Given the description of an element on the screen output the (x, y) to click on. 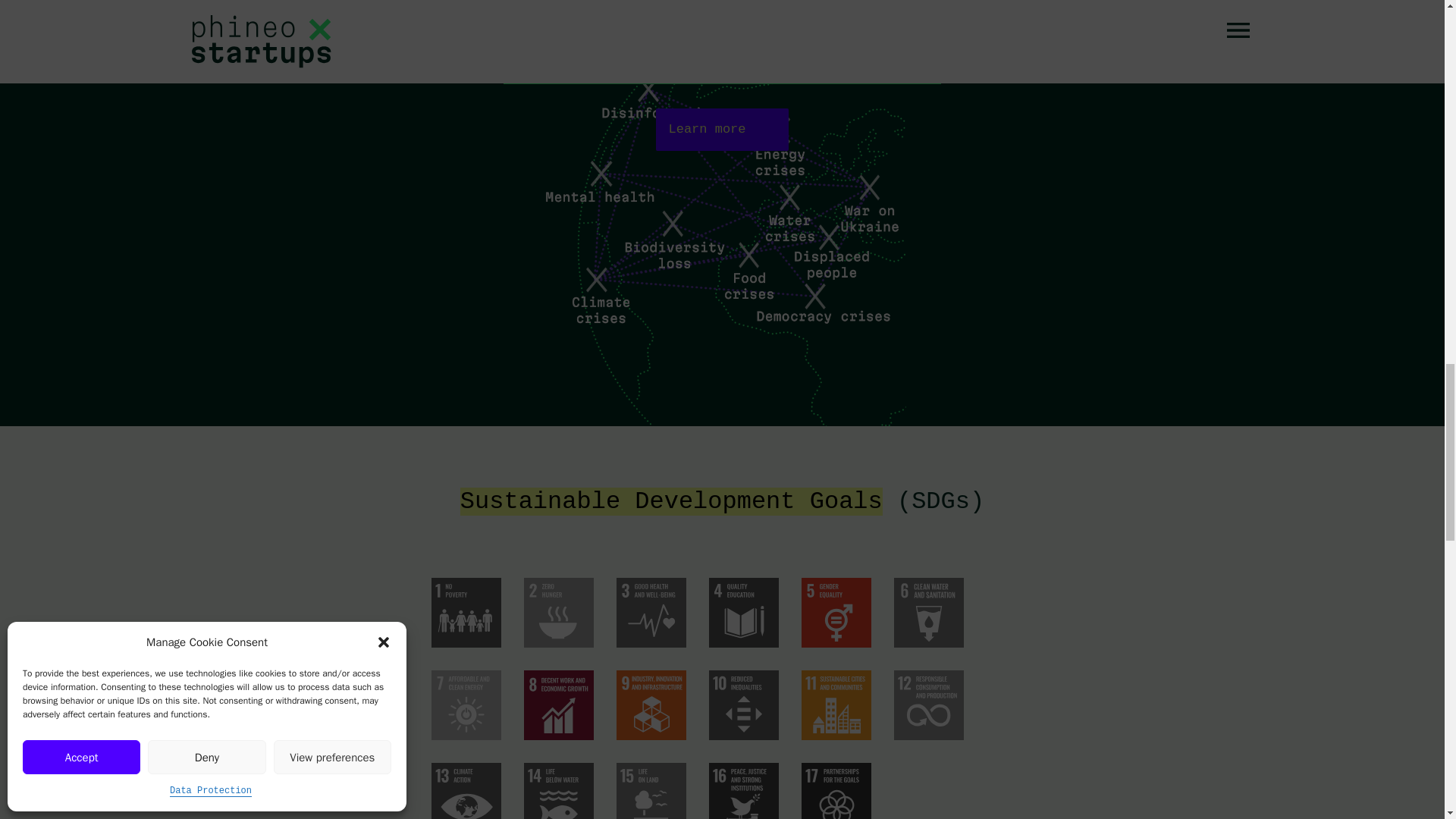
Learn more (721, 129)
